Given the description of an element on the screen output the (x, y) to click on. 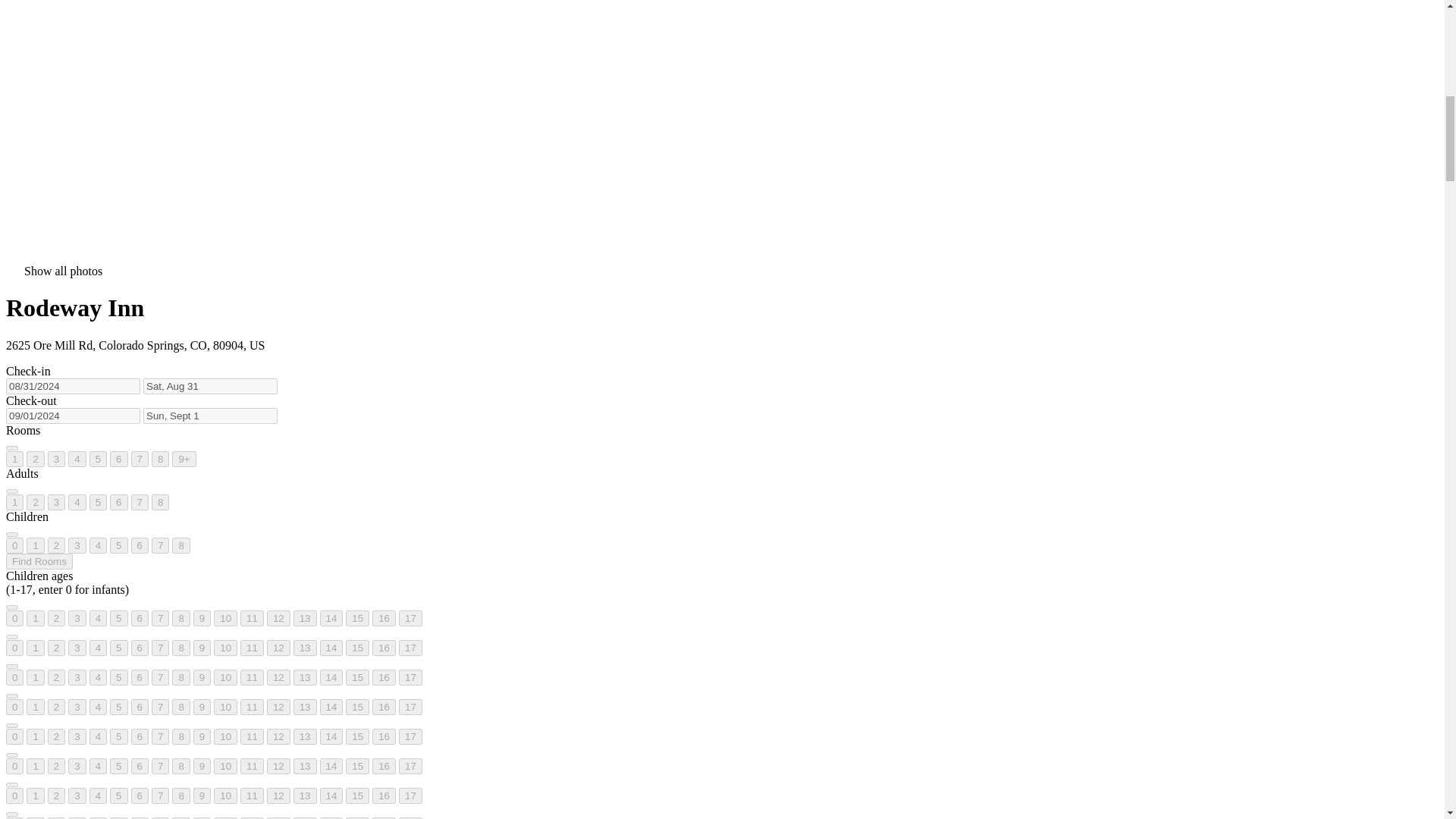
8 (159, 502)
5 (119, 545)
Sun, Sept 1 (210, 415)
1 (34, 545)
6 (119, 502)
2 (34, 458)
7 (139, 458)
Sat, Aug 31 (210, 385)
3 (76, 545)
4 (76, 502)
